Given the description of an element on the screen output the (x, y) to click on. 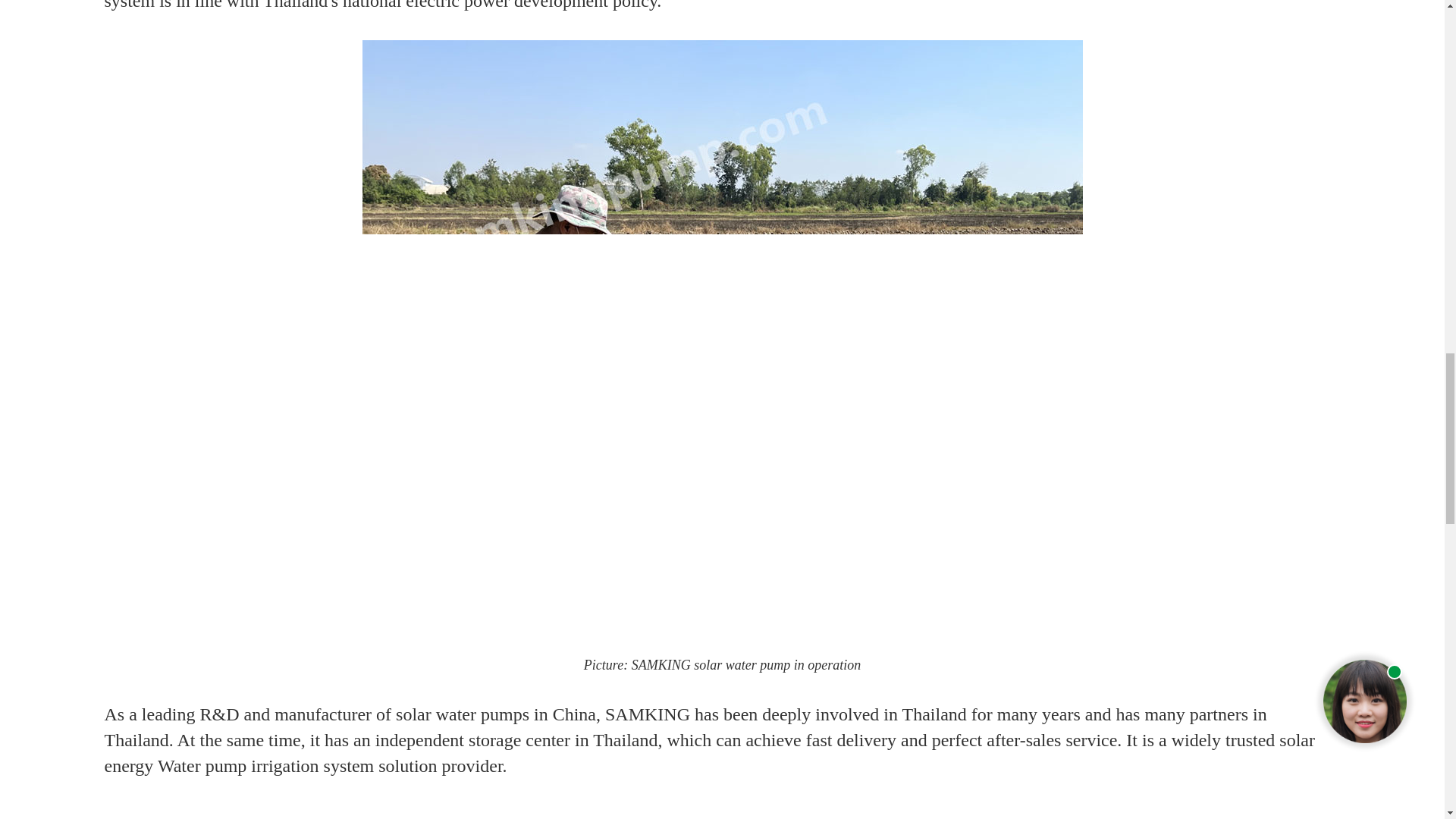
solar energy Water pump (709, 752)
solar water pumps (462, 713)
